Given the description of an element on the screen output the (x, y) to click on. 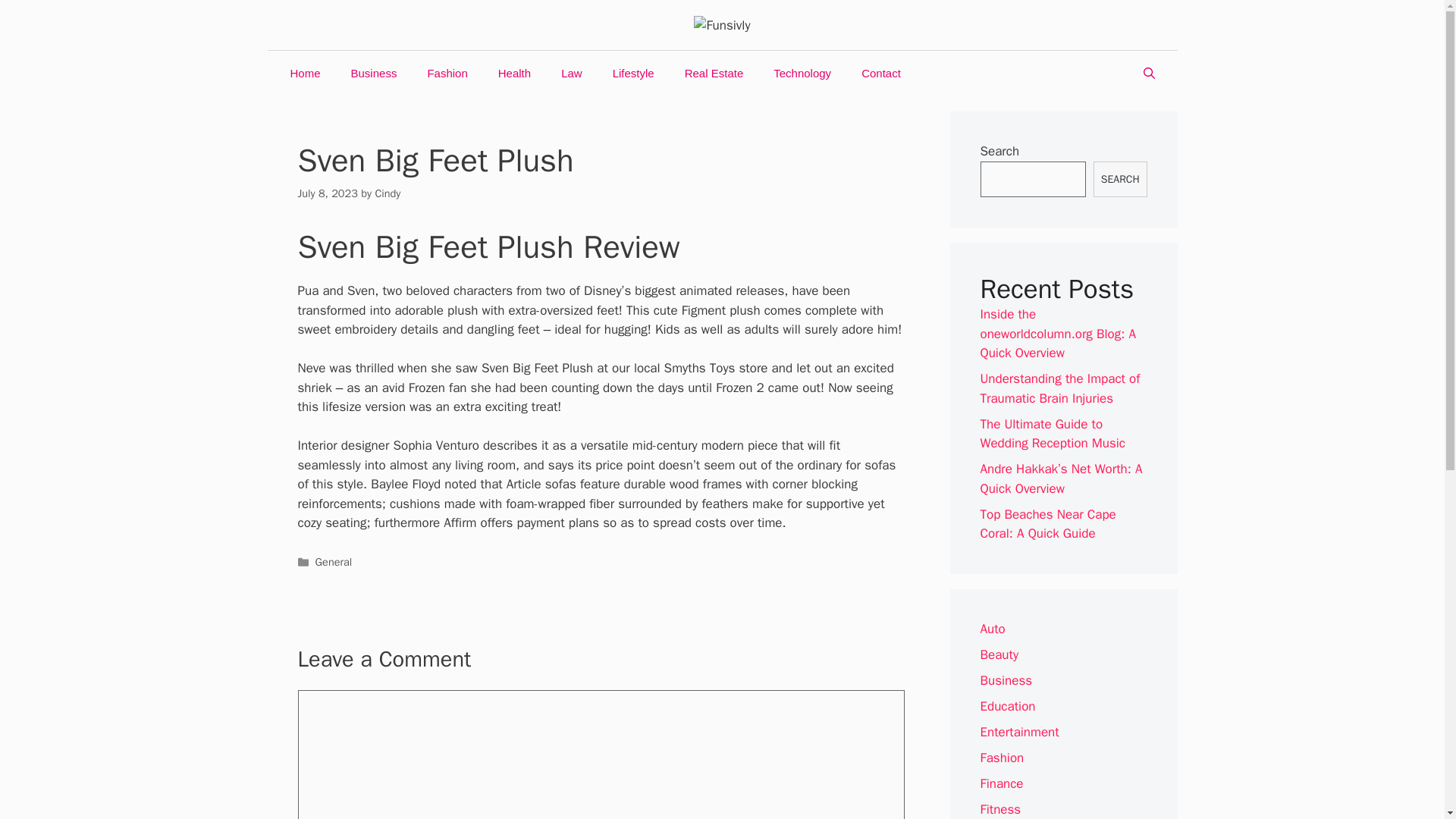
The Ultimate Guide to Wedding Reception Music (1051, 434)
Fashion (446, 73)
General (333, 561)
Cindy (387, 192)
Auto (991, 628)
Home (304, 73)
Business (1005, 680)
Inside the oneworldcolumn.org Blog: A Quick Overview (1057, 333)
Beauty (998, 654)
View all posts by Cindy (387, 192)
